Given the description of an element on the screen output the (x, y) to click on. 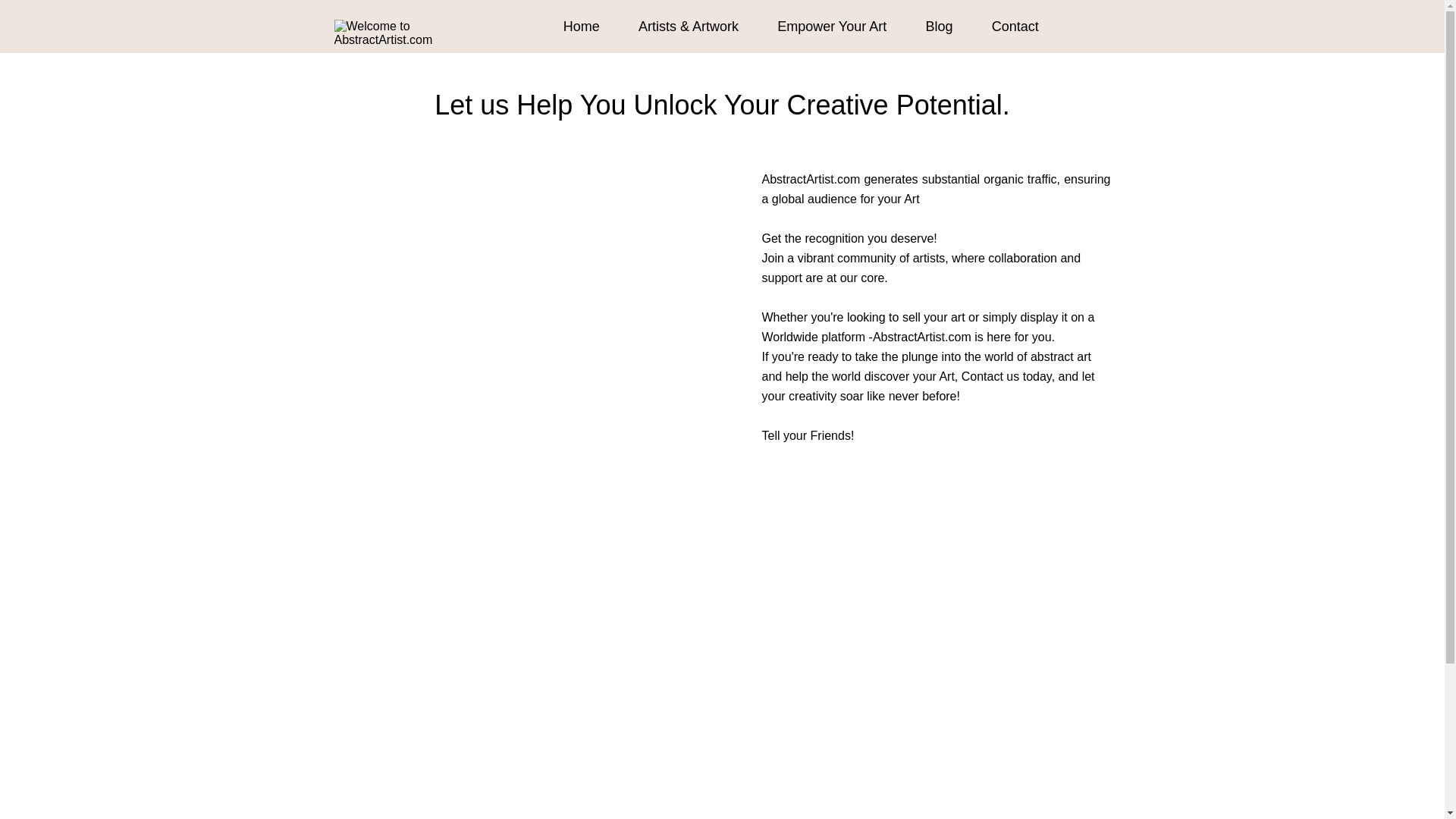
Home (581, 26)
Blog (938, 26)
Empower Your Art (831, 26)
Contact (1015, 26)
